Given the description of an element on the screen output the (x, y) to click on. 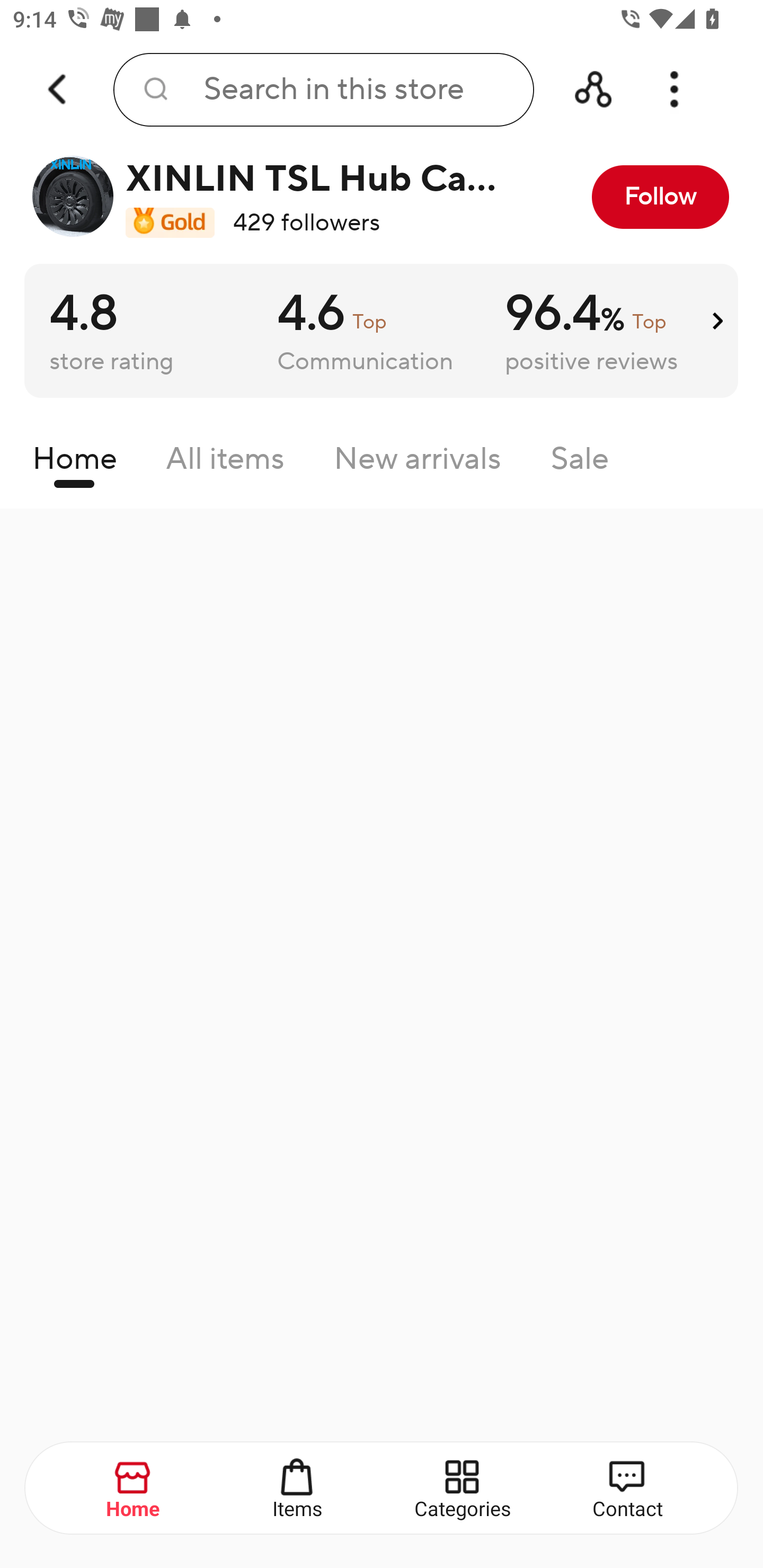
Search in this store (323, 90)
XINLIN TSL Hub Ca…  429 followers (272, 196)
Follow (660, 196)
Home (74, 463)
All items (225, 463)
New arrivals
 (418, 463)
Sale (579, 463)
Home (133, 1488)
Items (297, 1488)
Categories (462, 1488)
Contact (627, 1488)
